Given the description of an element on the screen output the (x, y) to click on. 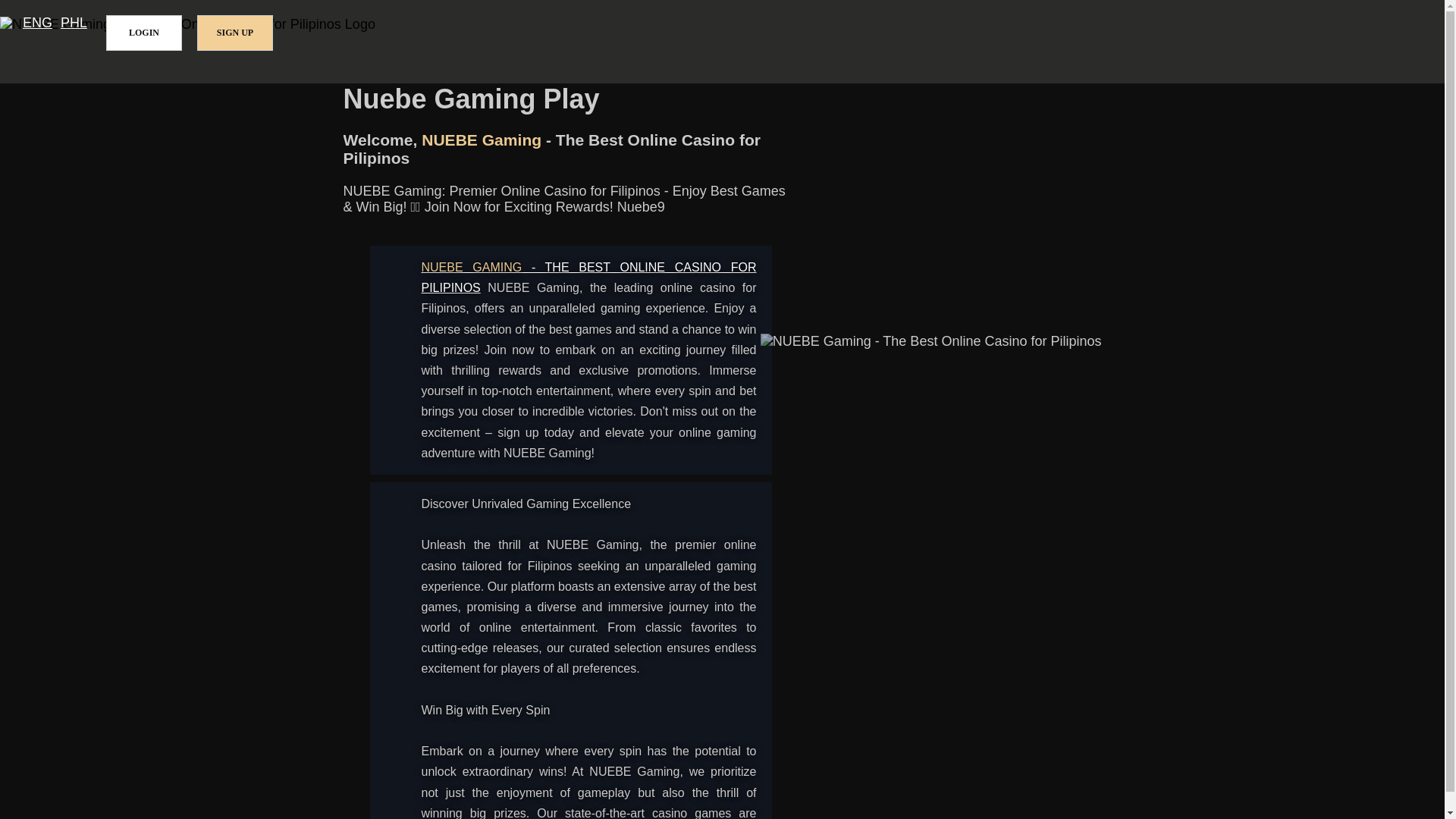
ENG (37, 23)
PHL (74, 23)
LOGIN (144, 32)
Filipino (74, 23)
SIGN UP (234, 32)
NUEBE Gaming - The Best Online Casino for Pilipinos (589, 277)
English (37, 23)
NUEBE GAMING - THE BEST ONLINE CASINO FOR PILIPINOS (589, 277)
